Given the description of an element on the screen output the (x, y) to click on. 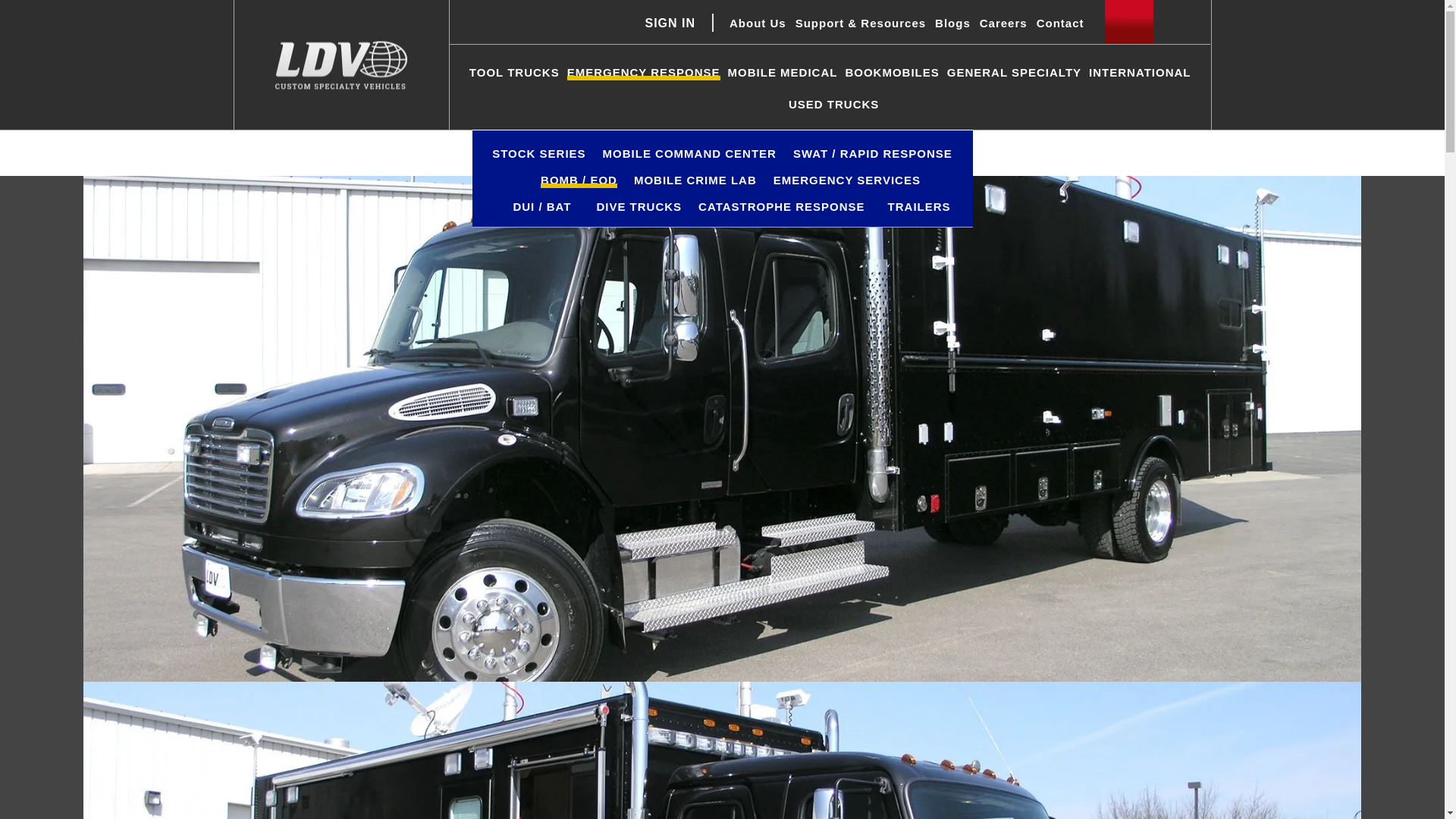
Careers (1003, 23)
CATASTROPHE RESPONSE (781, 206)
MOBILE COMMAND CENTER (689, 154)
TRAILERS (919, 206)
USED TRUCKS (834, 104)
MOBILE MEDICAL (783, 73)
Contact (1060, 23)
EMERGENCY SERVICES (846, 180)
EMERGENCY RESPONSE (643, 73)
Search (1181, 22)
